Given the description of an element on the screen output the (x, y) to click on. 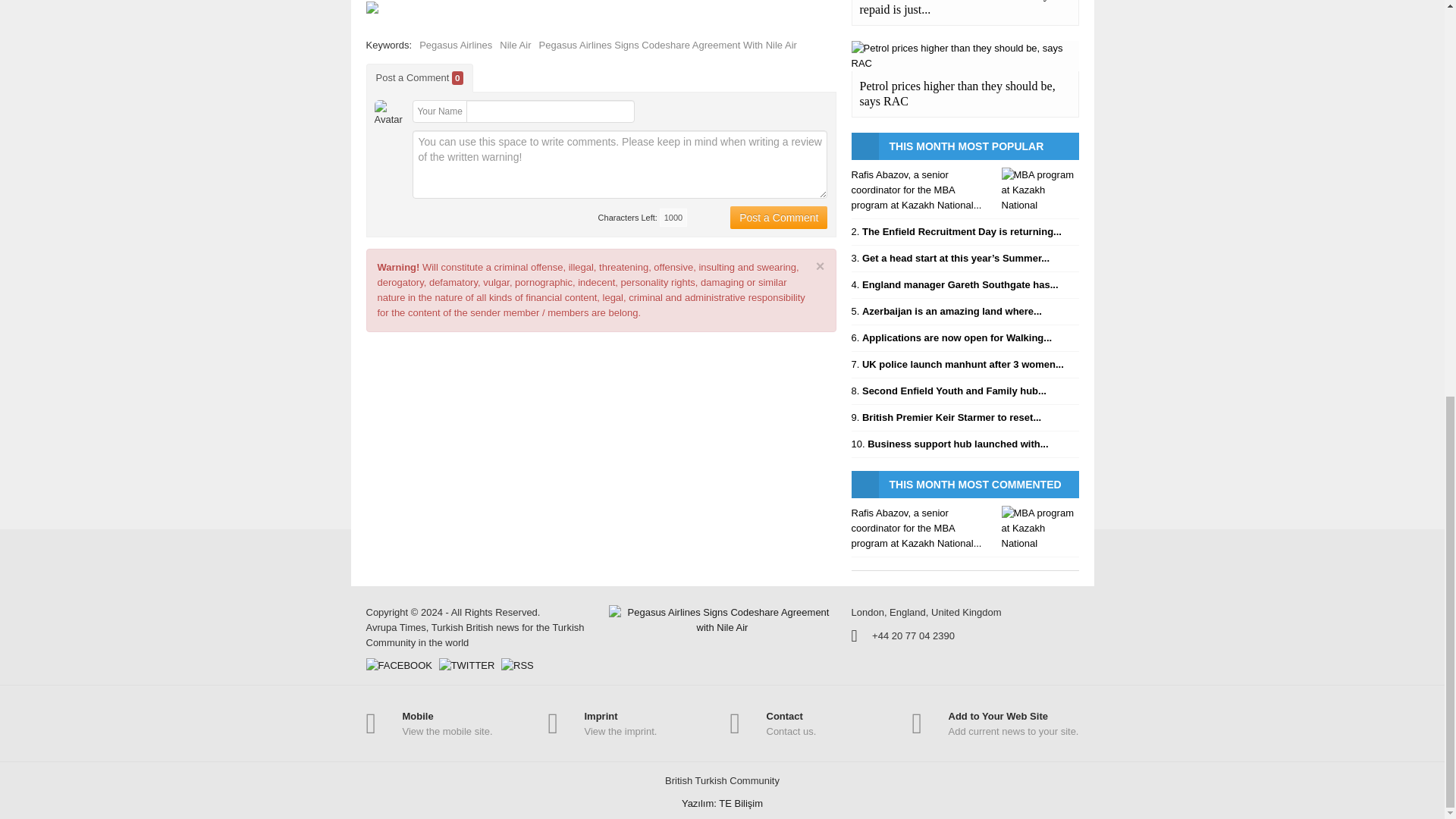
1000 (673, 217)
